Given the description of an element on the screen output the (x, y) to click on. 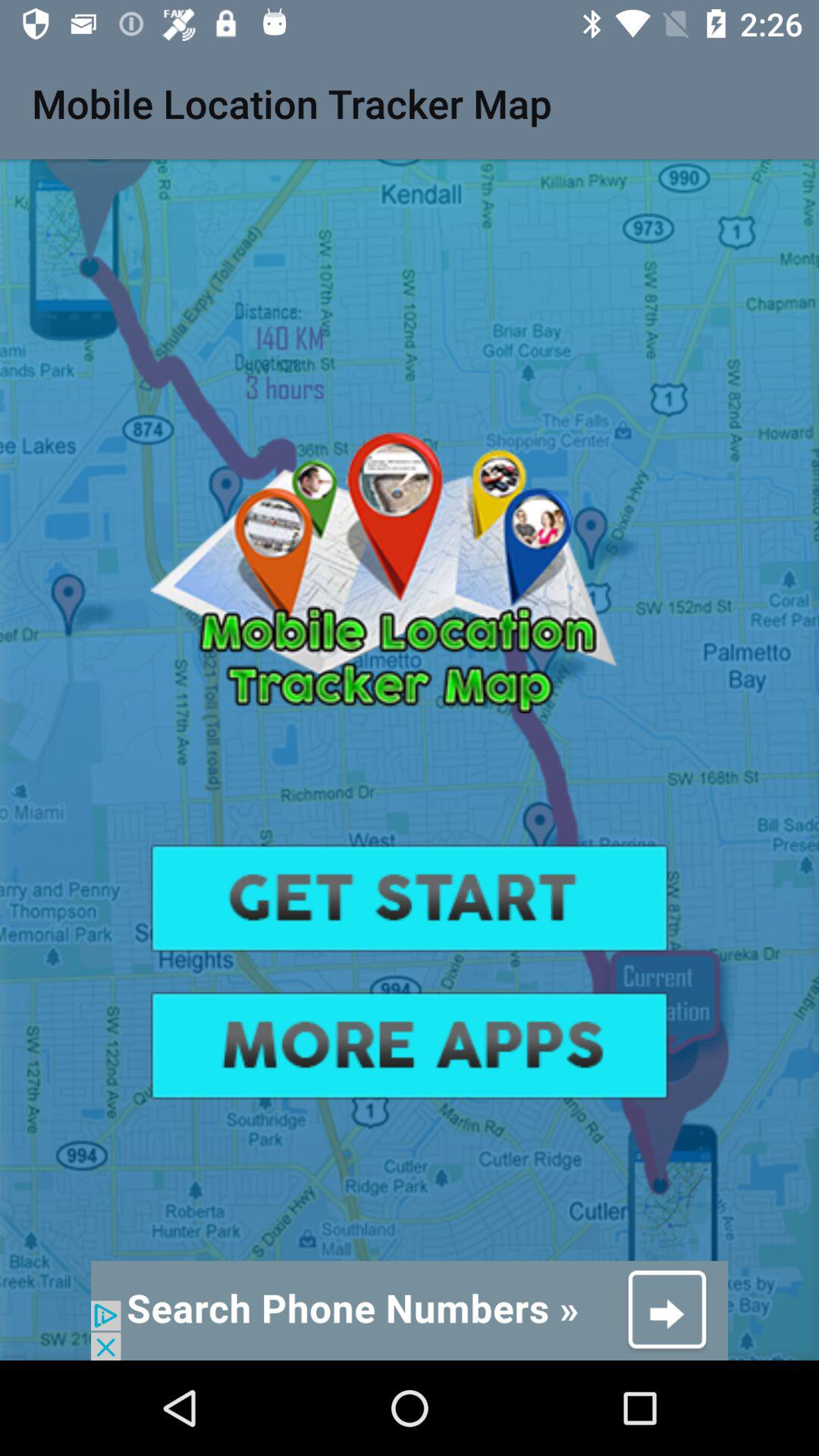
start option (409, 898)
